Given the description of an element on the screen output the (x, y) to click on. 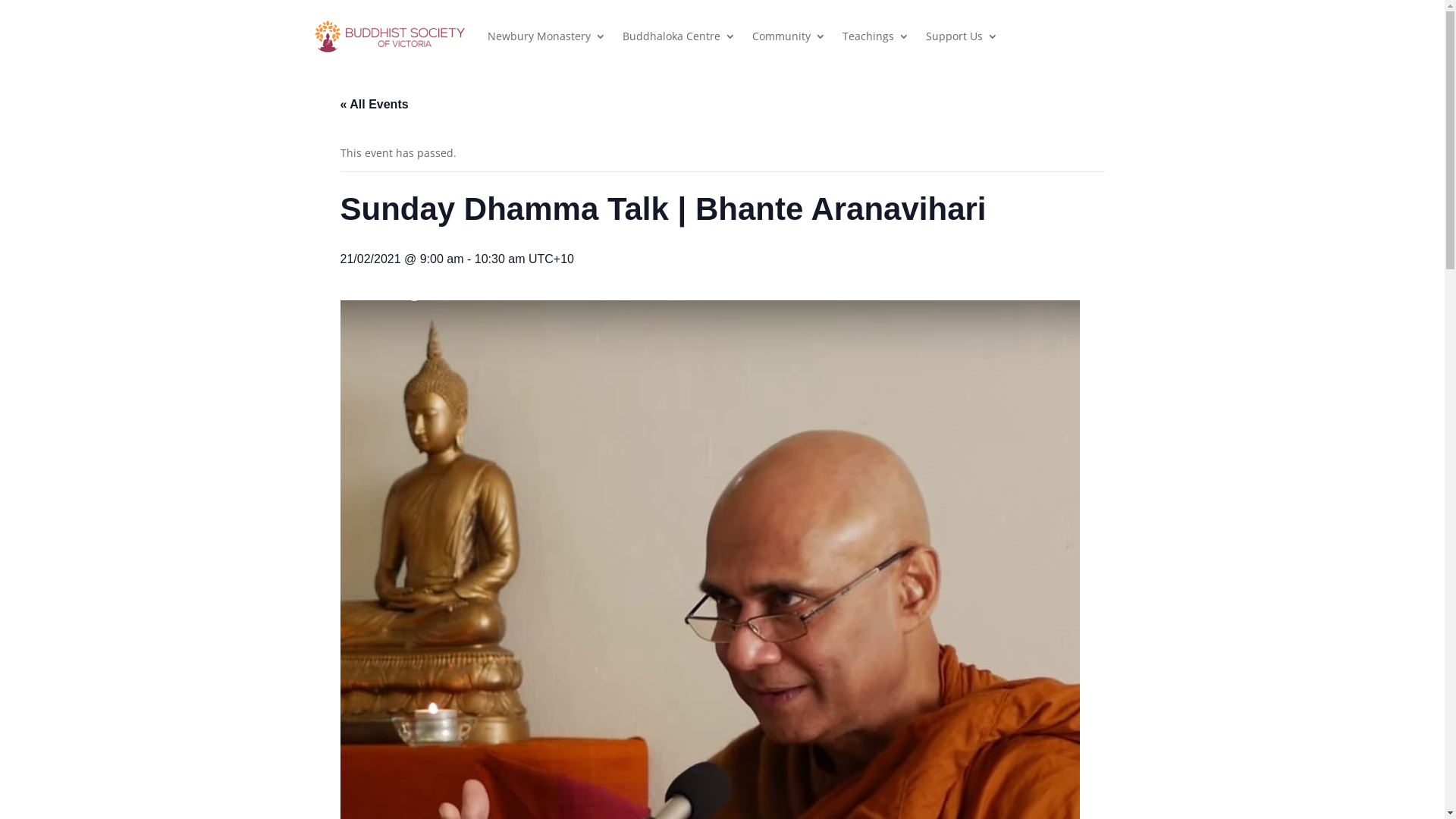
Community Element type: text (788, 36)
Support Us Element type: text (961, 36)
Teachings Element type: text (874, 36)
Newbury Monastery Element type: text (545, 36)
Buddhaloka Centre Element type: text (677, 36)
